Given the description of an element on the screen output the (x, y) to click on. 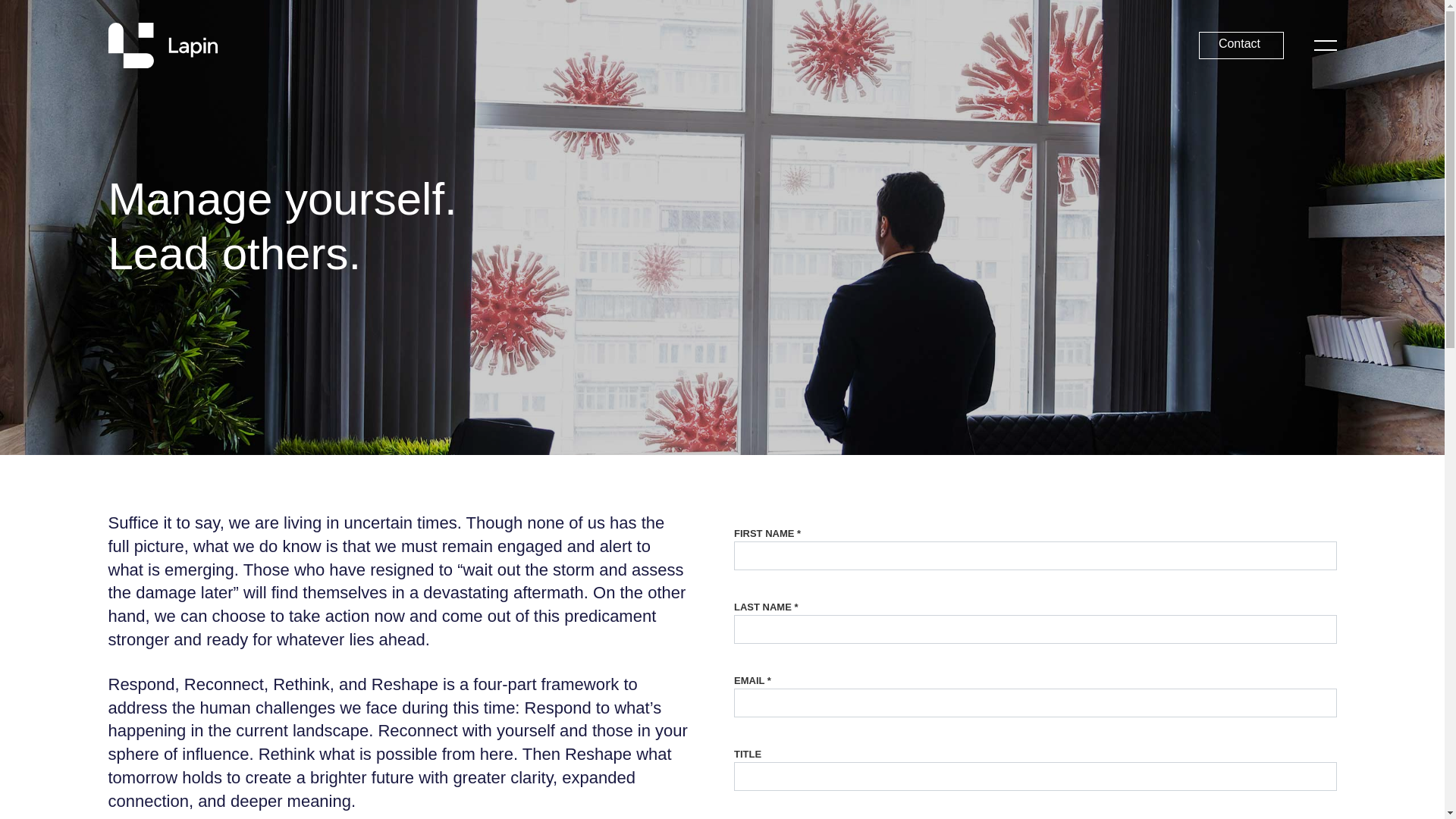
Contact  (1233, 44)
